Given the description of an element on the screen output the (x, y) to click on. 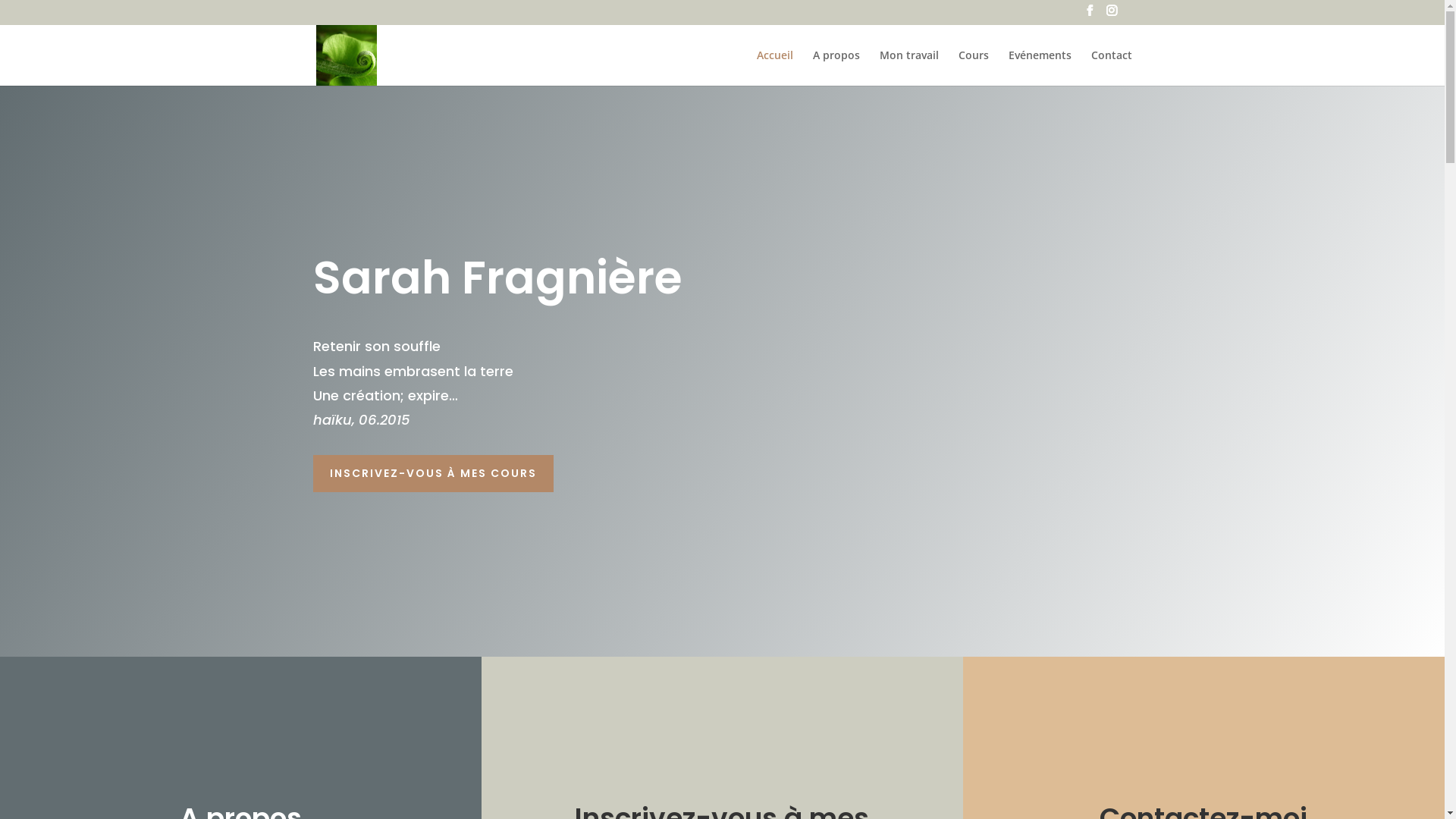
Accueil Element type: text (774, 67)
A propos Element type: text (835, 67)
Mon travail Element type: text (908, 67)
Cours Element type: text (973, 67)
Contact Element type: text (1110, 67)
